Given the description of an element on the screen output the (x, y) to click on. 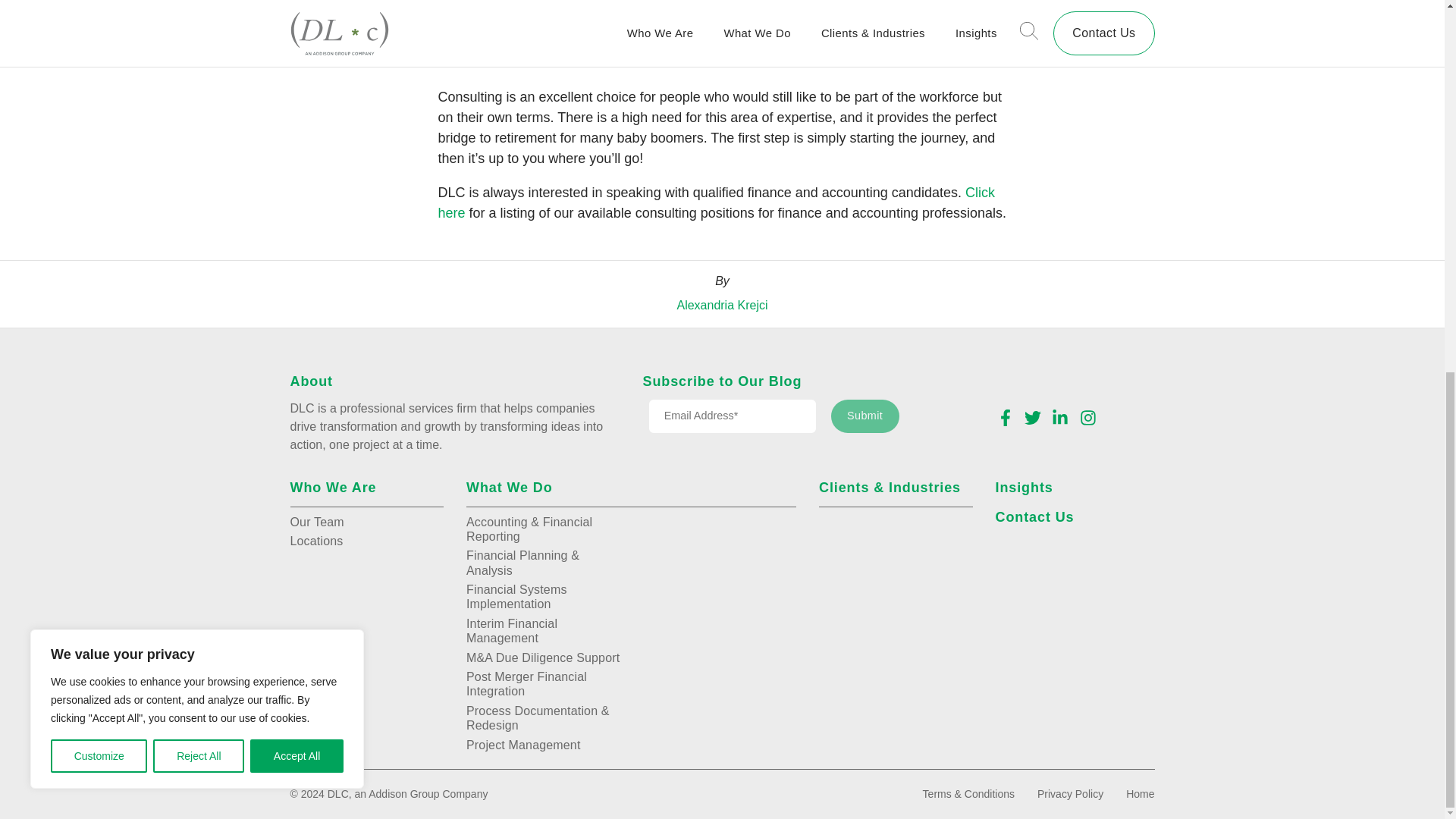
Accept All (296, 77)
Twitter (1032, 417)
Reject All (198, 77)
Click here (716, 202)
Instagram (1087, 417)
Facebook (1004, 417)
Alexandria Krejci (722, 305)
LinkedIn (1059, 417)
Customize (98, 77)
Posts by Alexandria Krejci (722, 305)
